Given the description of an element on the screen output the (x, y) to click on. 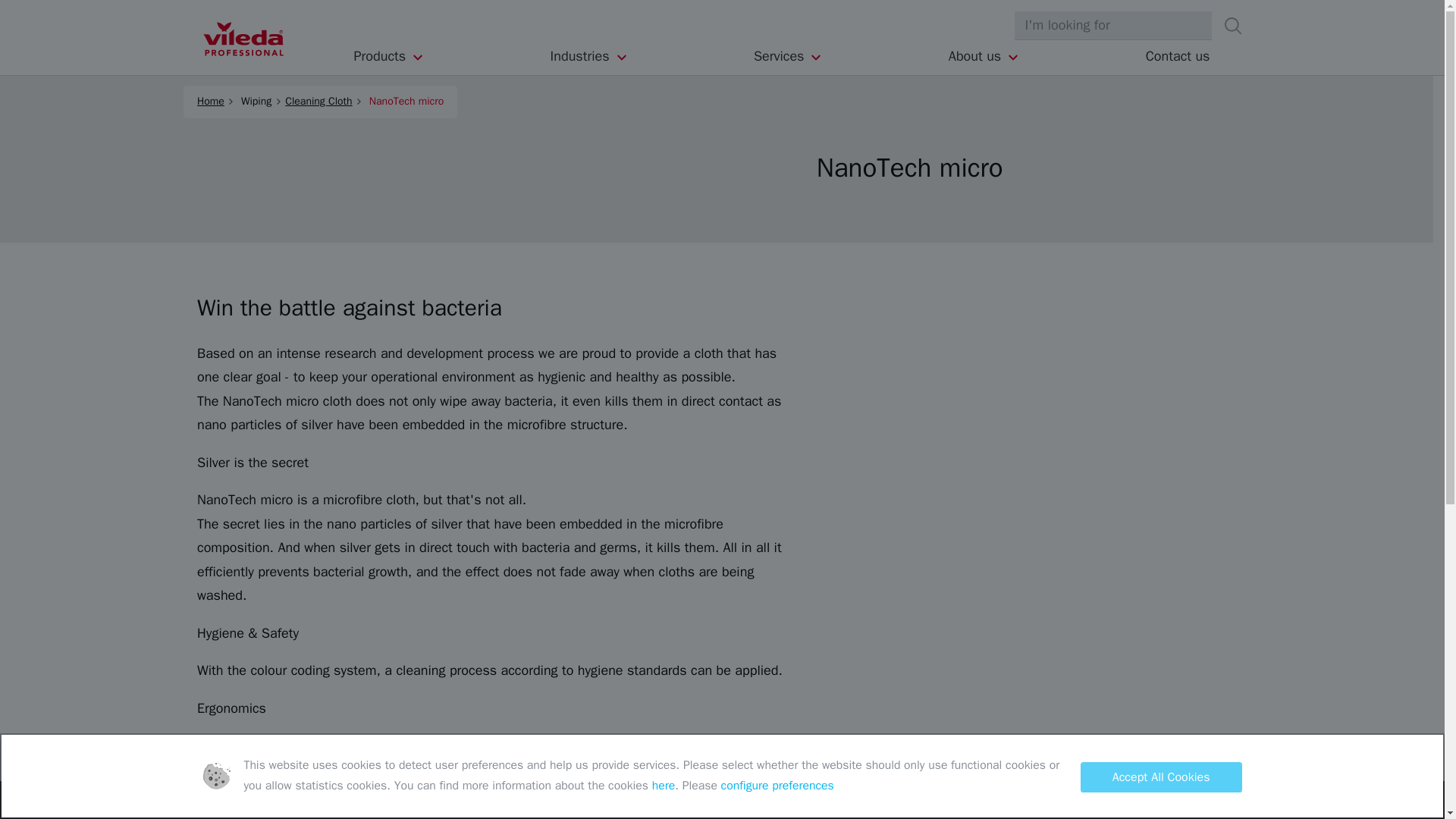
Vileda Professional (243, 39)
Industries (589, 56)
Services (788, 56)
Products (389, 56)
About us (984, 56)
